Given the description of an element on the screen output the (x, y) to click on. 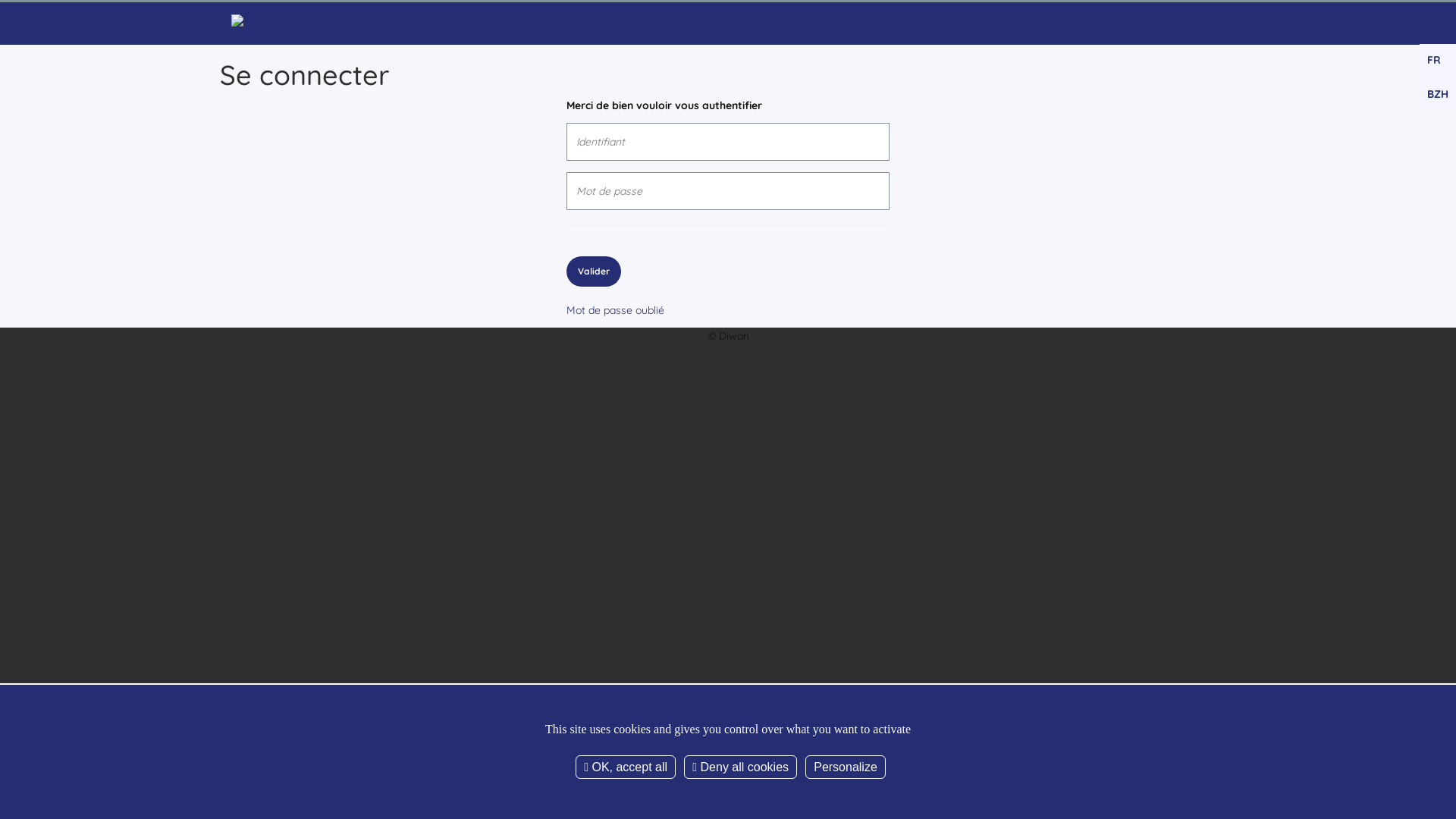
OK, accept all Element type: text (625, 766)
Valider Element type: text (593, 271)
Deny all cookies Element type: text (740, 766)
Personalize Element type: text (845, 766)
